Given the description of an element on the screen output the (x, y) to click on. 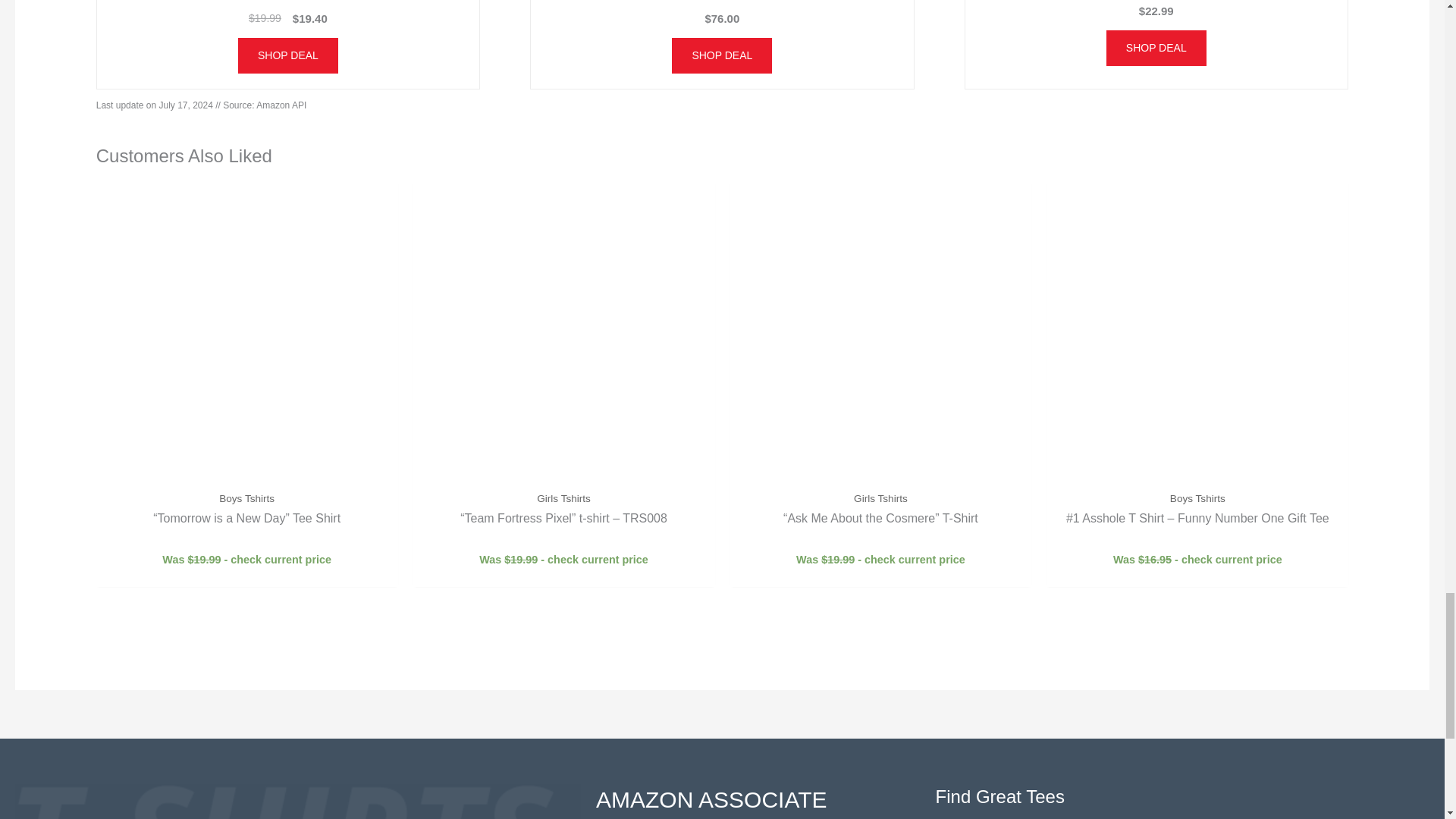
SHOP DEAL (287, 55)
